Given the description of an element on the screen output the (x, y) to click on. 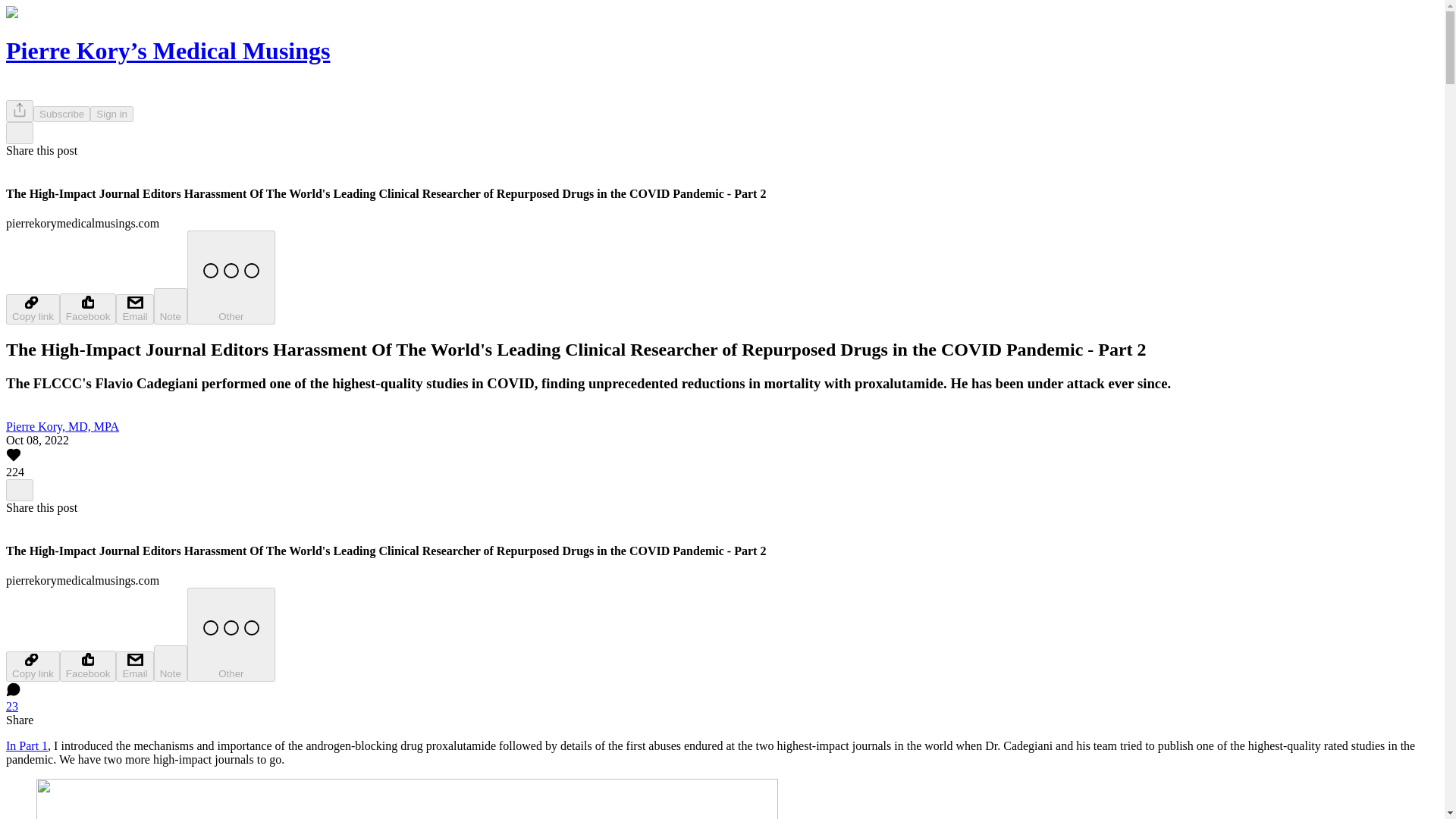
Subscribe (61, 114)
Note (170, 306)
In Part 1 (26, 745)
Email (134, 309)
Copy link (32, 666)
Facebook (87, 665)
Copy link (32, 309)
Note (170, 663)
Pierre Kory, MD, MPA (62, 426)
Other (231, 634)
Facebook (87, 308)
Sign in (111, 114)
Other (231, 277)
Email (134, 666)
